Given the description of an element on the screen output the (x, y) to click on. 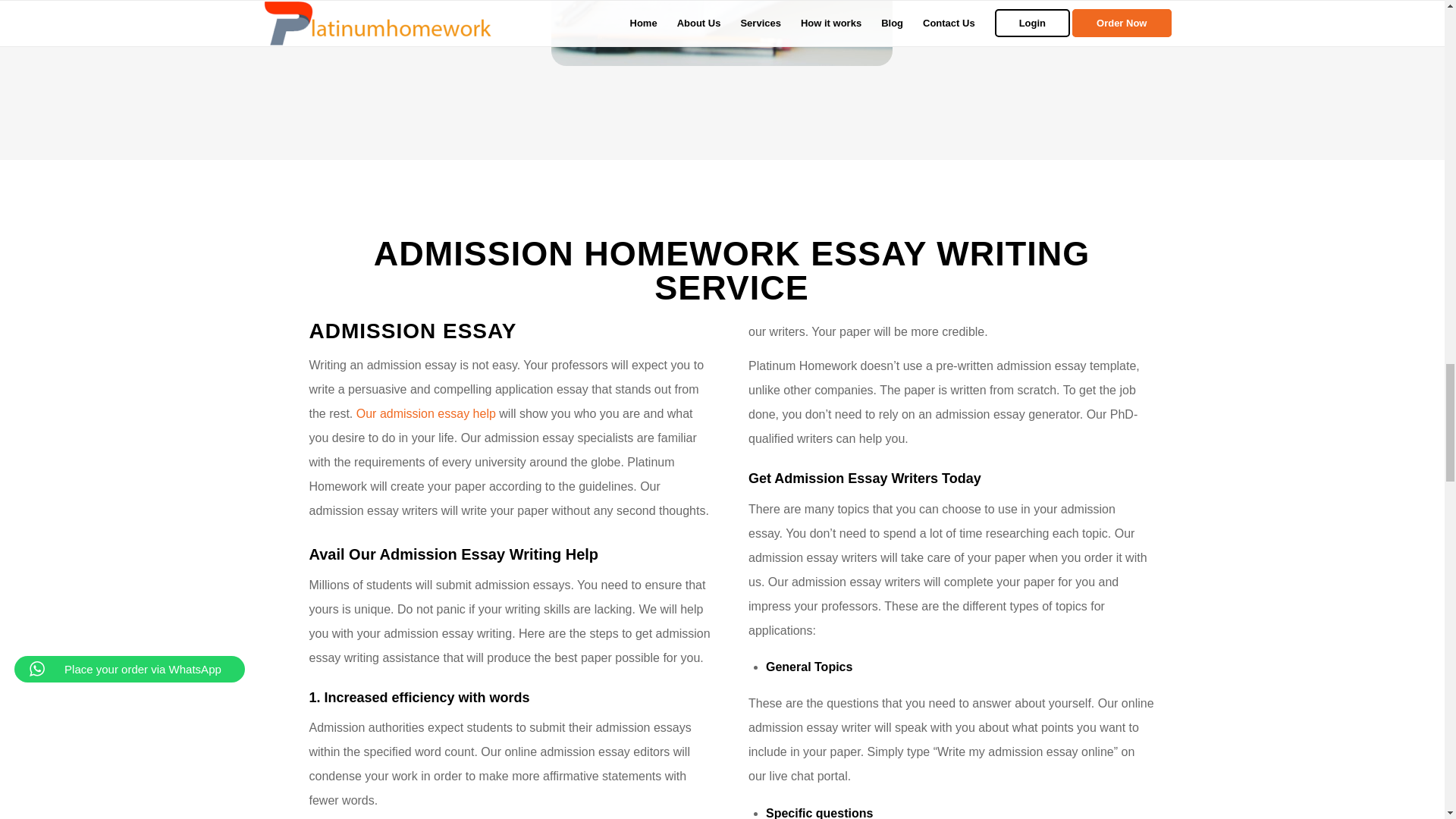
Assignment writing services (721, 33)
Our admission essay help  (427, 413)
